Given the description of an element on the screen output the (x, y) to click on. 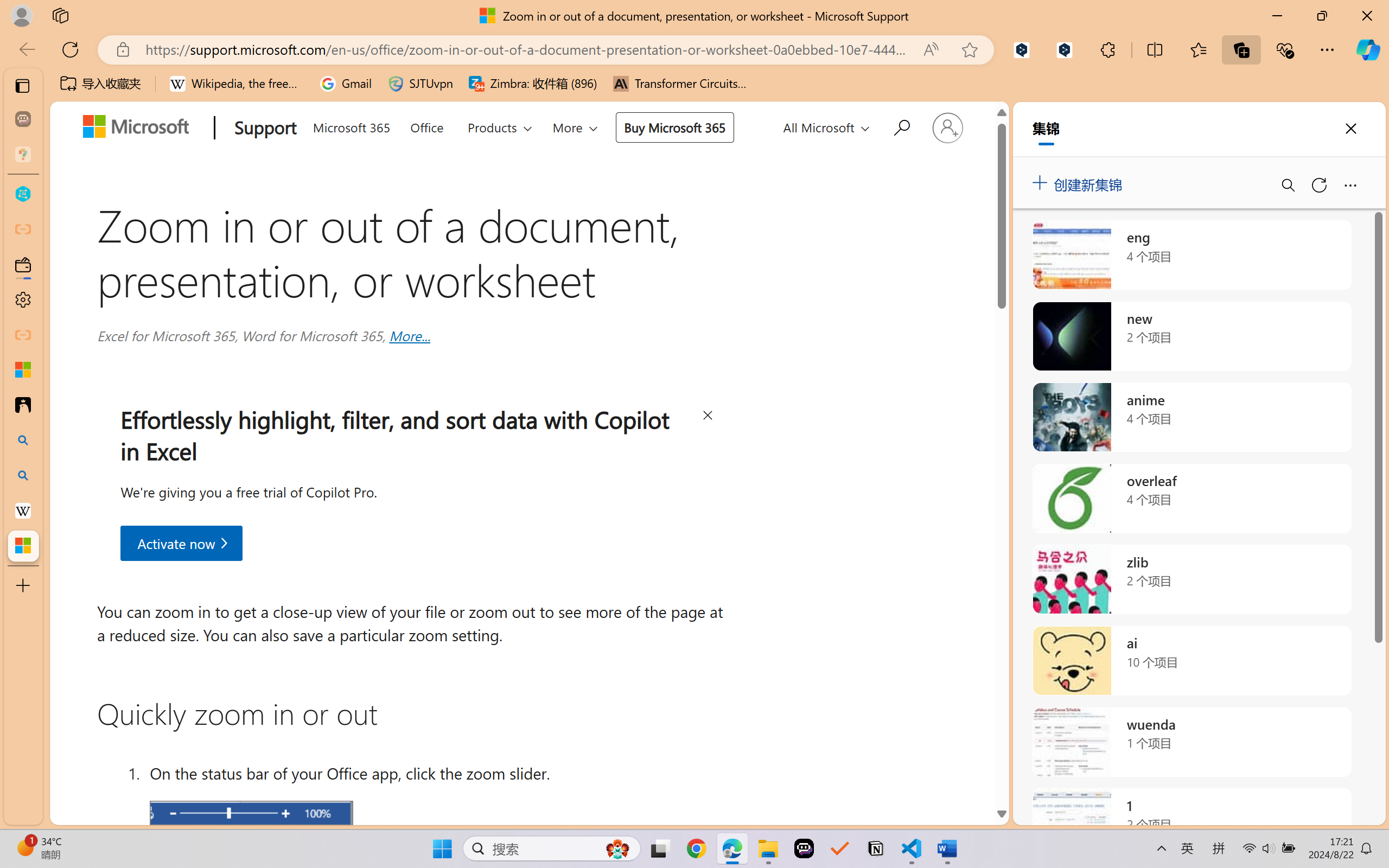
Sign in to your account (946, 127)
Earth - Wikipedia (22, 510)
Microsoft 365 (351, 125)
Transformer Circuits Thread (680, 83)
Buy Microsoft 365 (673, 127)
Gmail (345, 83)
Copilot (Ctrl+Shift+.) (1368, 49)
